Given the description of an element on the screen output the (x, y) to click on. 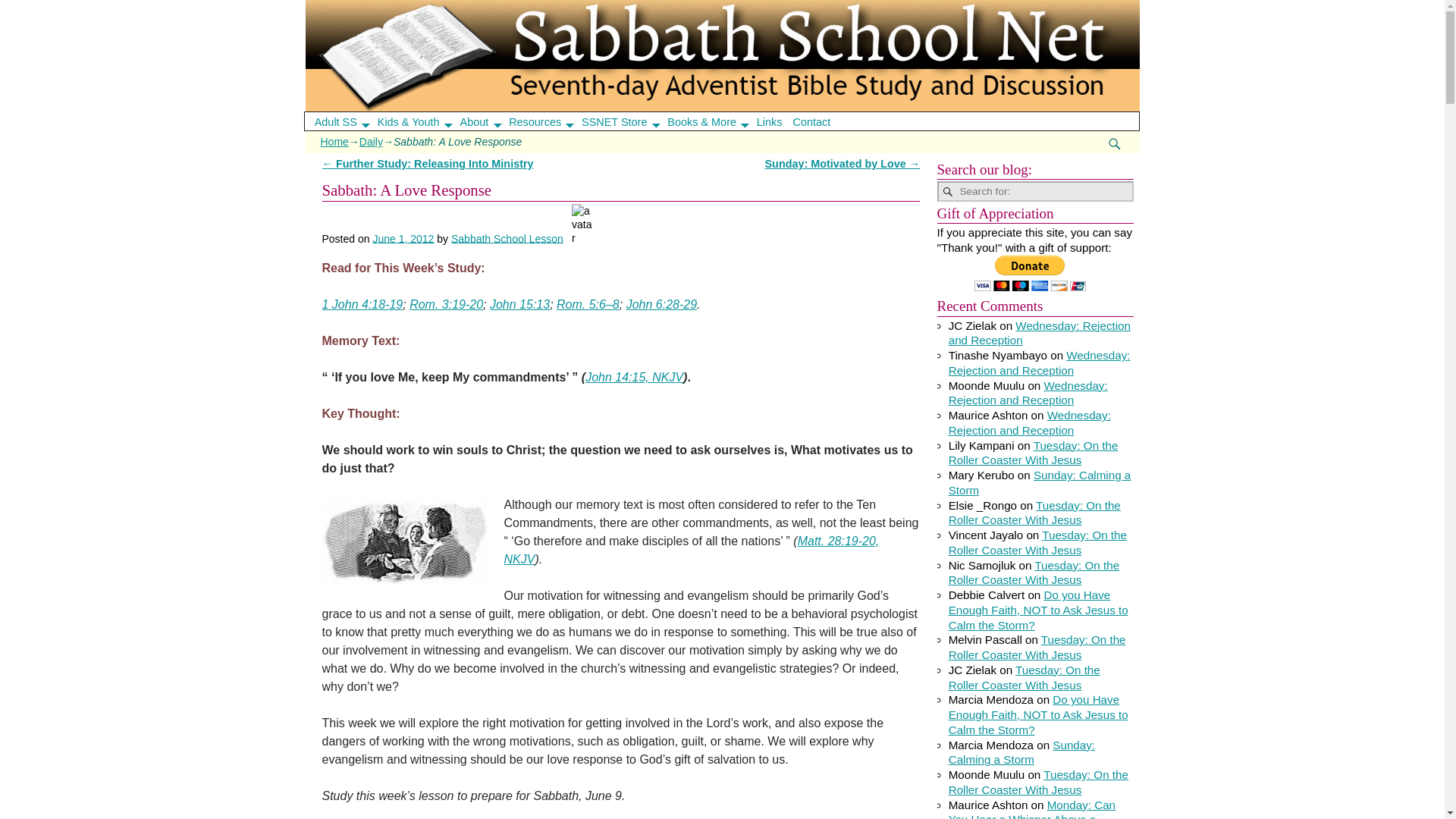
About (485, 121)
View all posts by Sabbath School Lesson (507, 237)
Resources (545, 121)
Adult SS (346, 121)
6:01 am (402, 237)
